Given the description of an element on the screen output the (x, y) to click on. 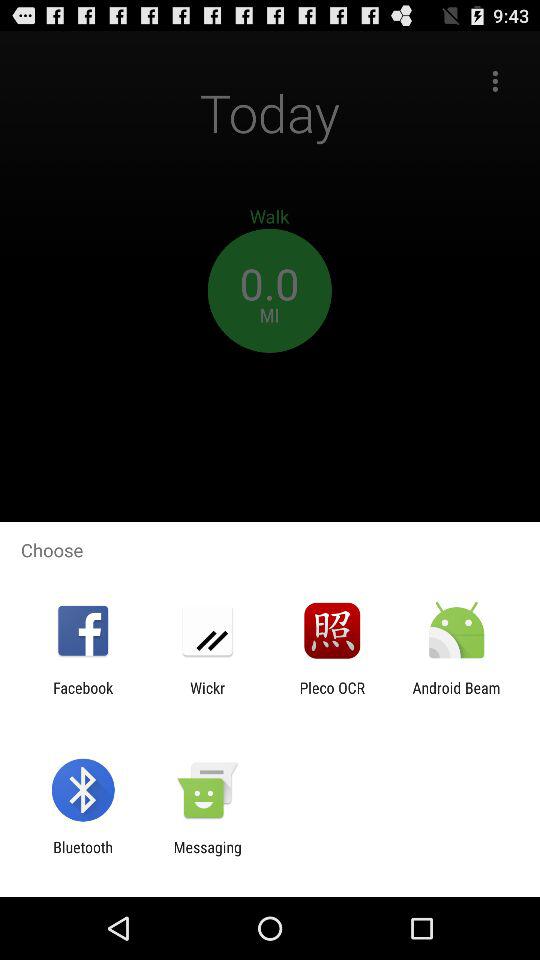
launch the item at the bottom right corner (456, 696)
